Given the description of an element on the screen output the (x, y) to click on. 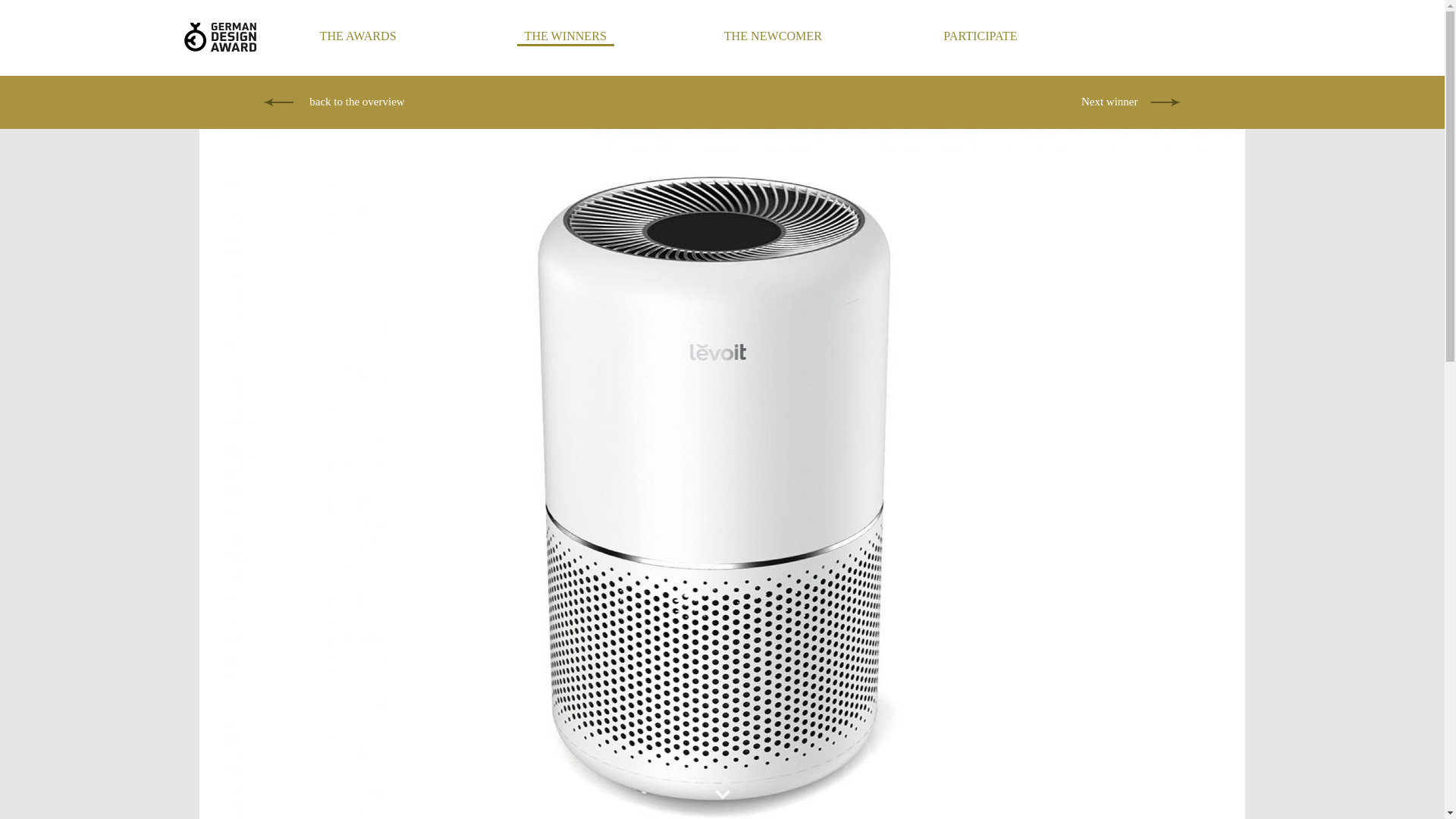
PARTICIPATE (980, 36)
The Awards (358, 36)
THE AWARDS (358, 36)
The Newcomer (772, 36)
The winners (565, 36)
THE WINNERS (565, 36)
Next winner (1130, 101)
back to the overview (351, 101)
THE NEWCOMER (772, 36)
Participate (980, 36)
